Given the description of an element on the screen output the (x, y) to click on. 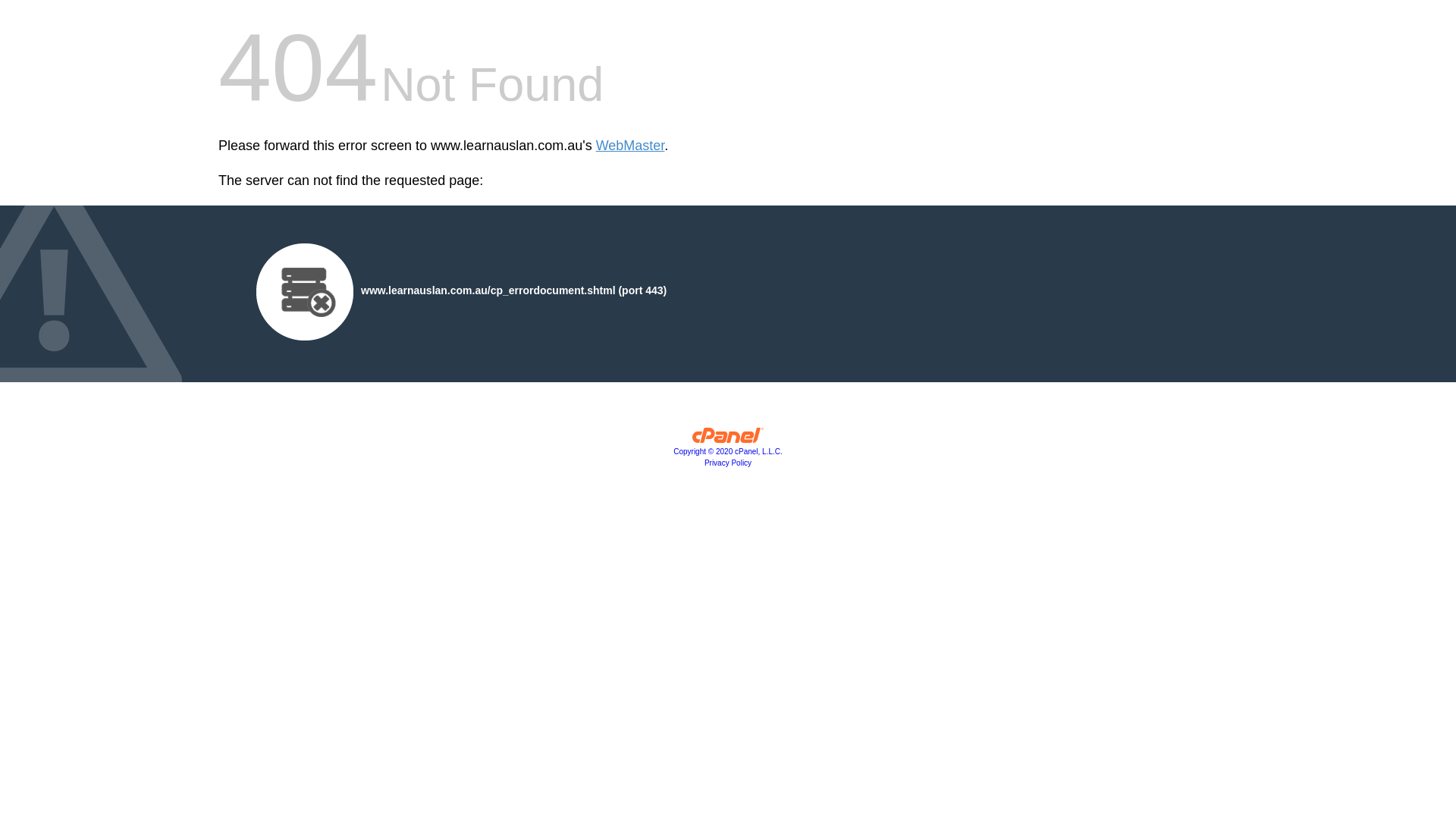
WebMaster Element type: text (630, 145)
cPanel, Inc. Element type: hover (728, 439)
Privacy Policy Element type: text (727, 462)
